Given the description of an element on the screen output the (x, y) to click on. 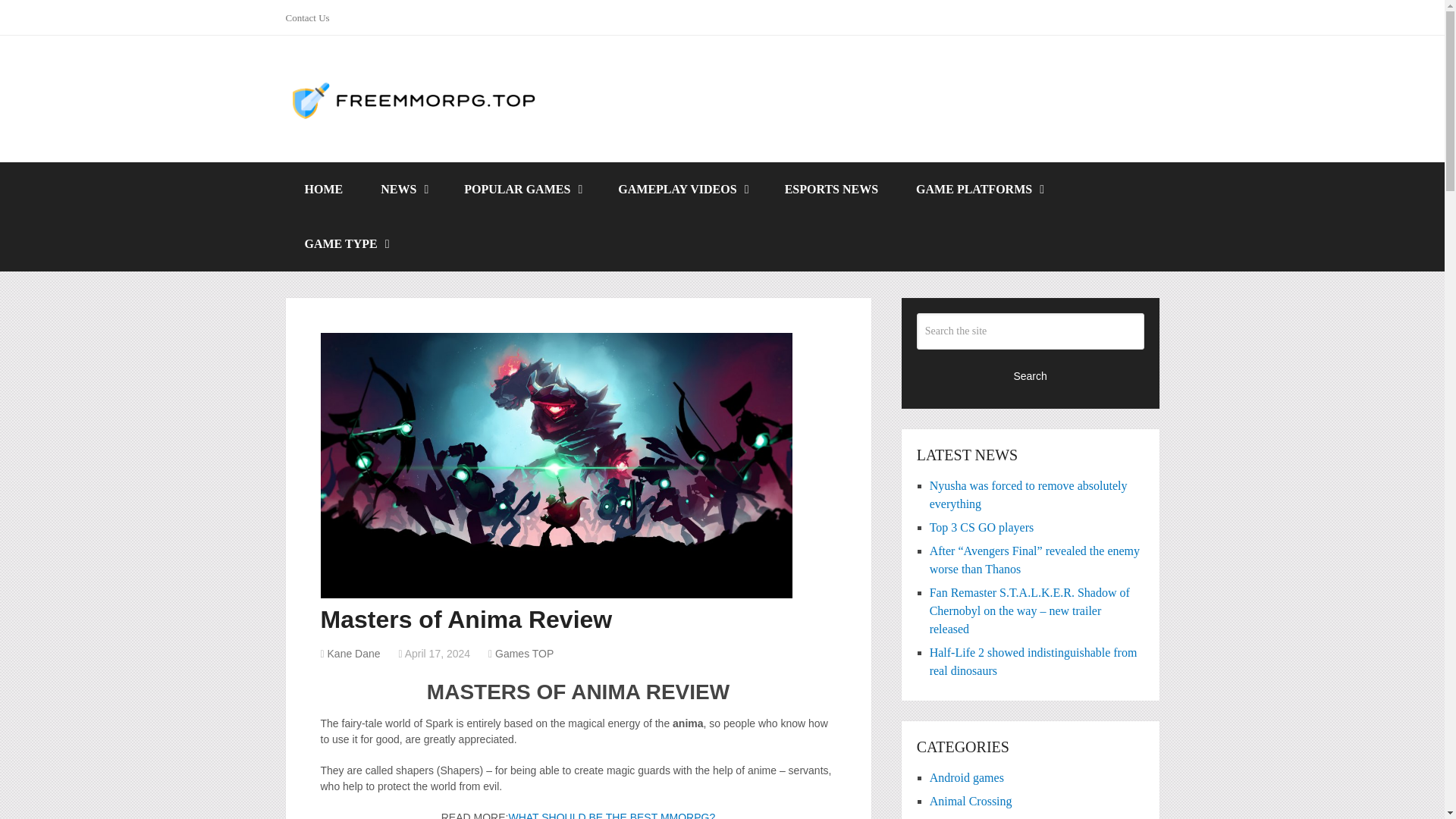
HOME (323, 189)
POPULAR GAMES (521, 189)
GAME PLATFORMS (978, 189)
NEWS (403, 189)
Posts by Kane Dane (353, 653)
View all posts in Games TOP (524, 653)
ESPORTS NEWS (830, 189)
Contact Us (312, 17)
GAMEPLAY VIDEOS (681, 189)
